Given the description of an element on the screen output the (x, y) to click on. 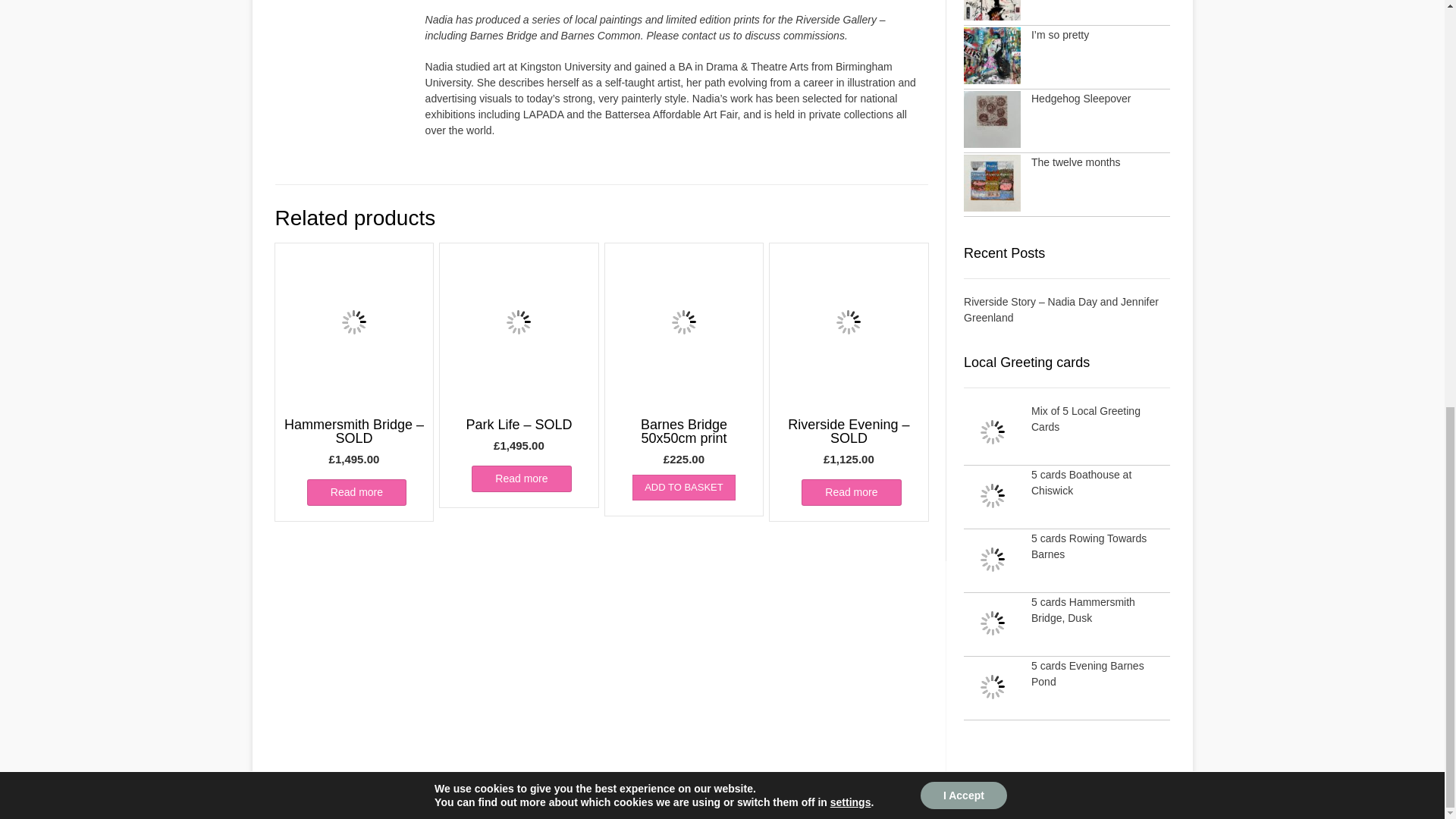
Read more (520, 479)
Read more (851, 492)
Read more (356, 492)
ADD TO BASKET (683, 487)
Hedgehog Sleepover (1080, 98)
